Given the description of an element on the screen output the (x, y) to click on. 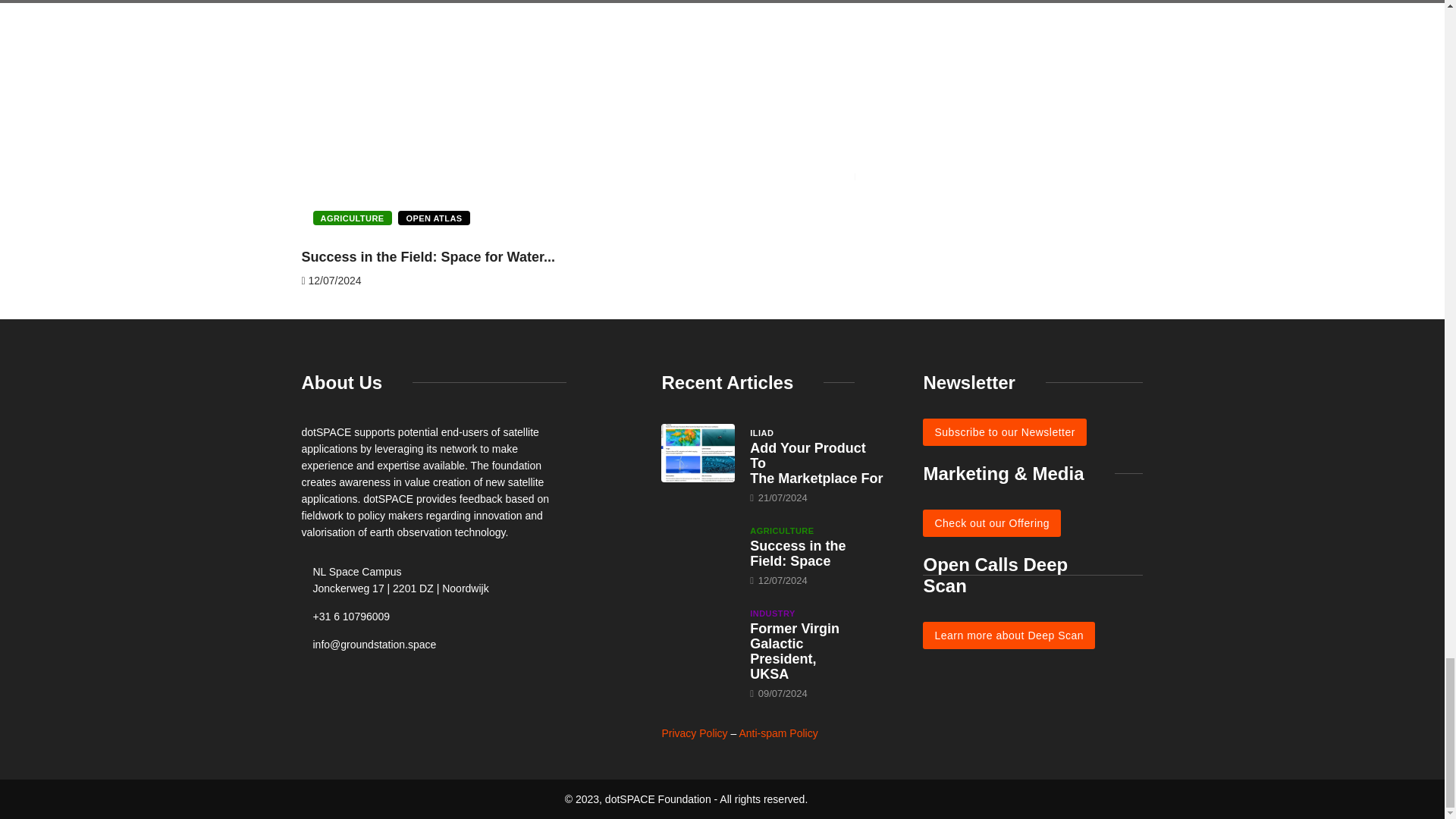
Success in the Field: Space for Water and Food Security (698, 550)
